Given the description of an element on the screen output the (x, y) to click on. 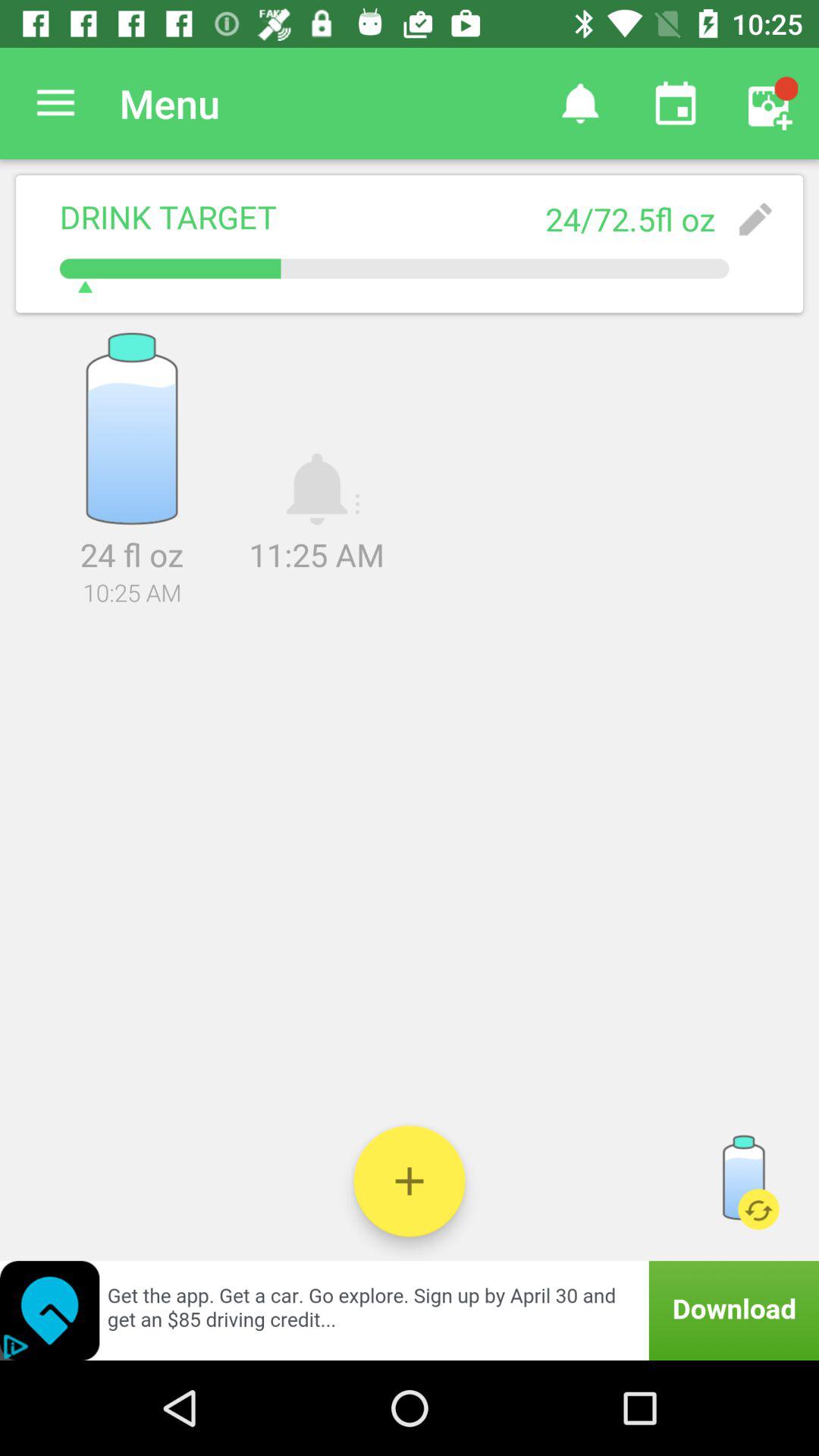
add a new entry (409, 1181)
